Given the description of an element on the screen output the (x, y) to click on. 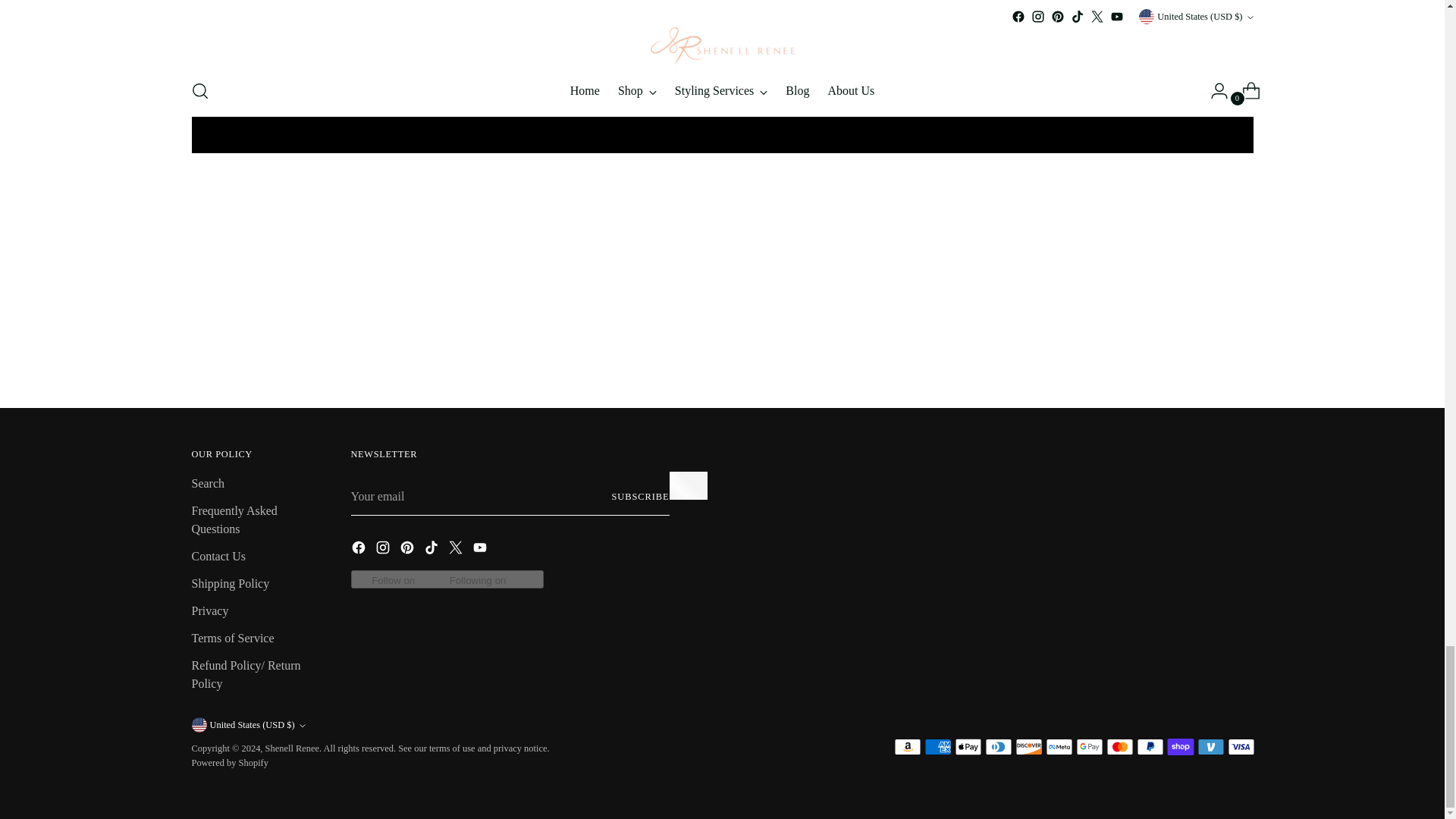
Shenell Renee on Pinterest (407, 549)
